Given the description of an element on the screen output the (x, y) to click on. 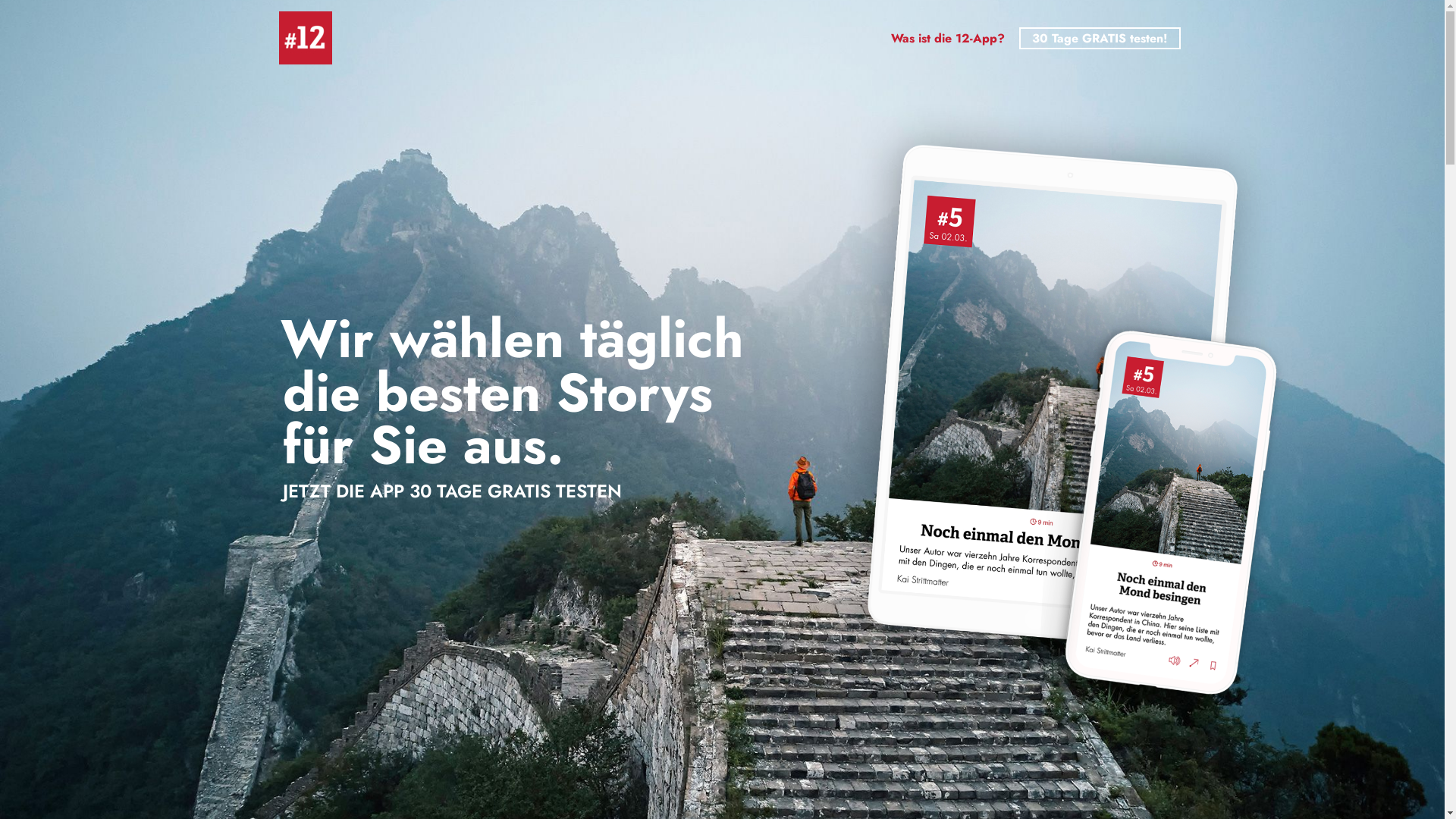
AGB Element type: text (573, 778)
Facebook Element type: hover (1141, 780)
Impressum Element type: text (787, 778)
Was ist die 12-App? Element type: text (947, 37)
Kontakt Element type: text (864, 778)
Twitter Element type: hover (1161, 780)
30 Tage GRATIS testen! Element type: text (1099, 38)
